Given the description of an element on the screen output the (x, y) to click on. 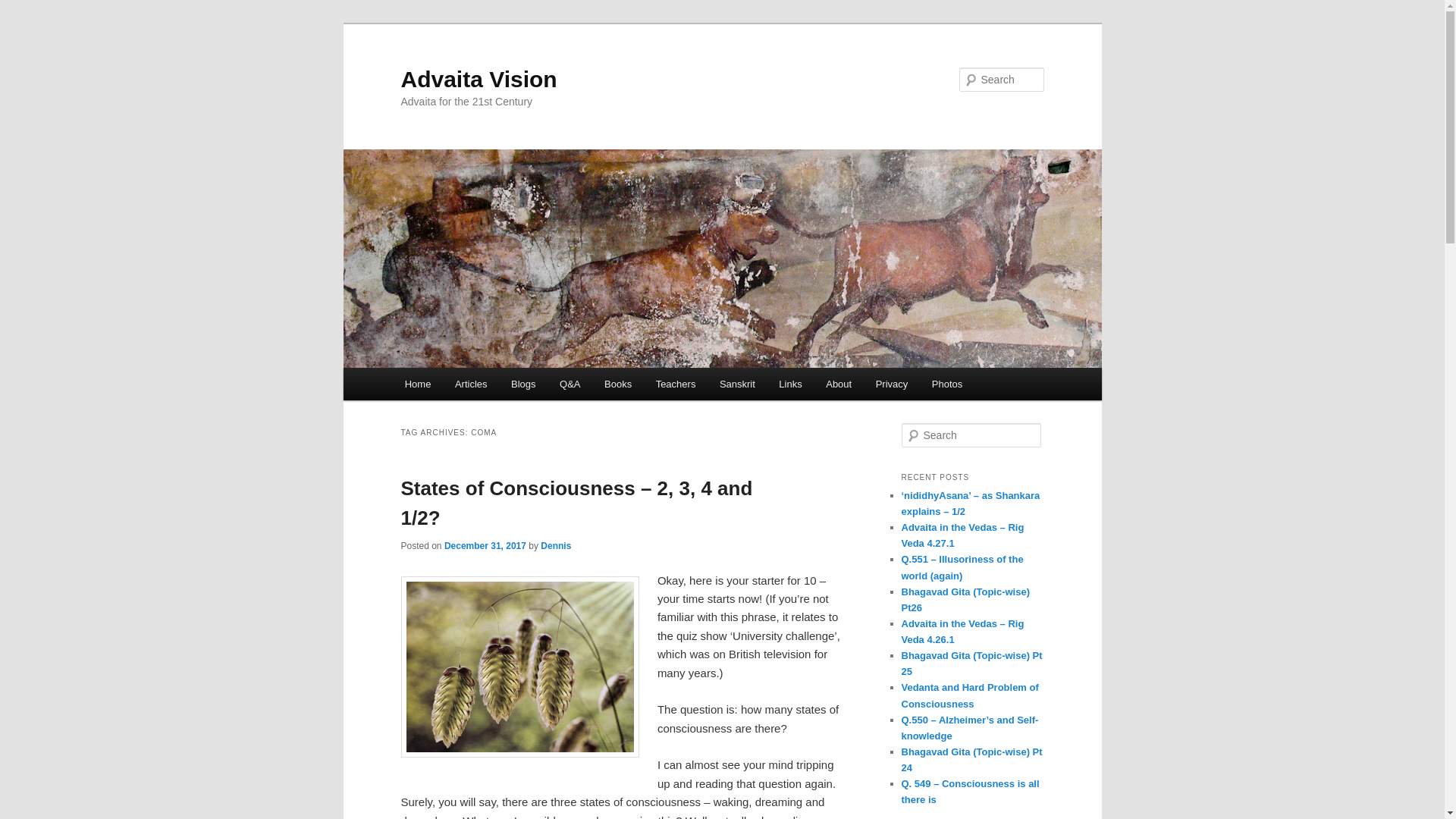
View all posts by Dennis (555, 545)
Privacy (891, 383)
Teachers (675, 383)
Blogs (523, 383)
Photos (947, 383)
Home (417, 383)
Blogs from regular contributors (523, 383)
Sanskrit (737, 383)
Articles (470, 383)
12:13 (484, 545)
Books (617, 383)
Search (24, 8)
Aims of Advaita Vision (838, 383)
